Given the description of an element on the screen output the (x, y) to click on. 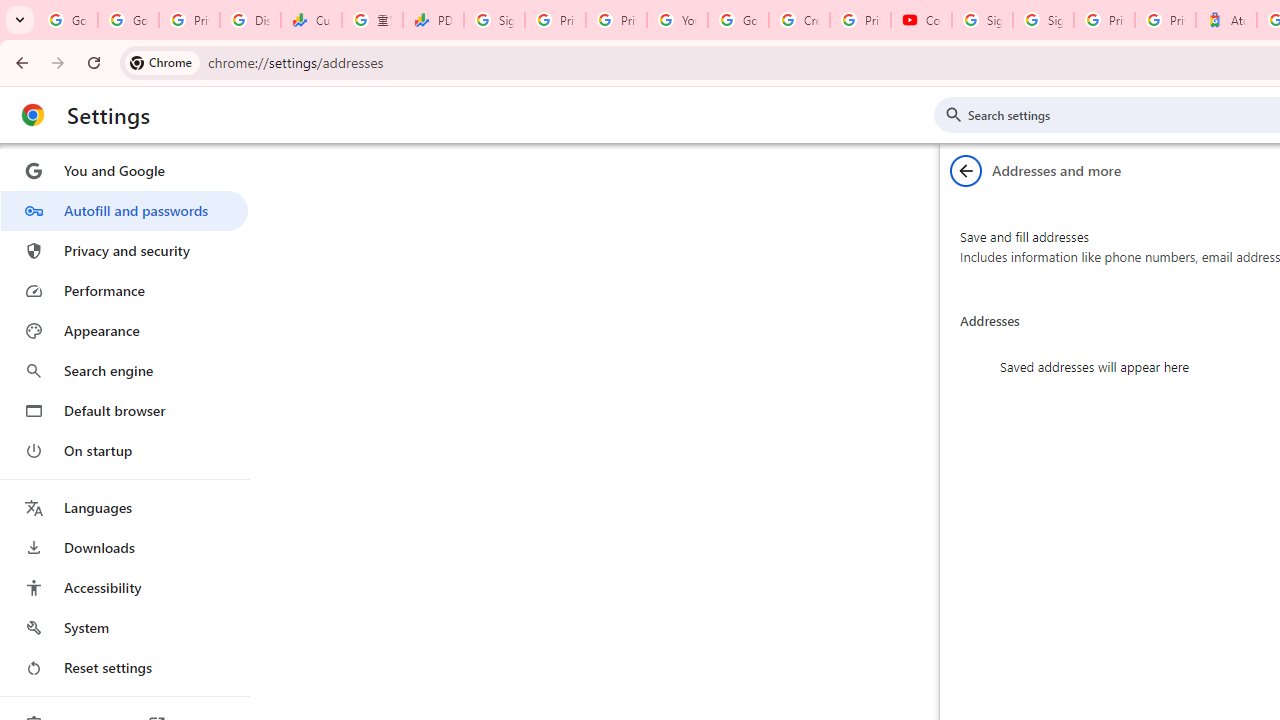
Content Creator Programs & Opportunities - YouTube Creators (921, 20)
Search engine (124, 370)
Sign in - Google Accounts (493, 20)
PDD Holdings Inc - ADR (PDD) Price & News - Google Finance (433, 20)
